Given the description of an element on the screen output the (x, y) to click on. 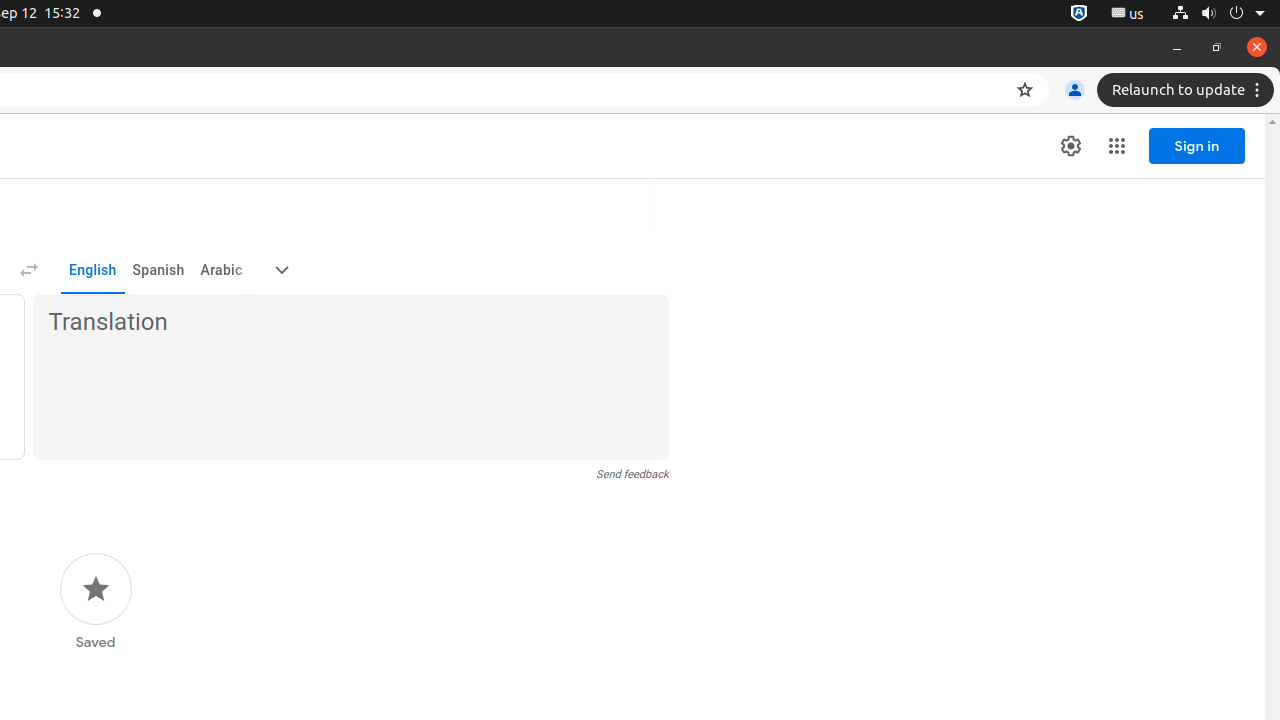
:1.72/StatusNotifierItem Element type: menu (1079, 13)
Relaunch to update Element type: push-button (1188, 90)
Saved Element type: link (95, 602)
Send feedback Element type: push-button (632, 474)
You Element type: push-button (1075, 90)
